Given the description of an element on the screen output the (x, y) to click on. 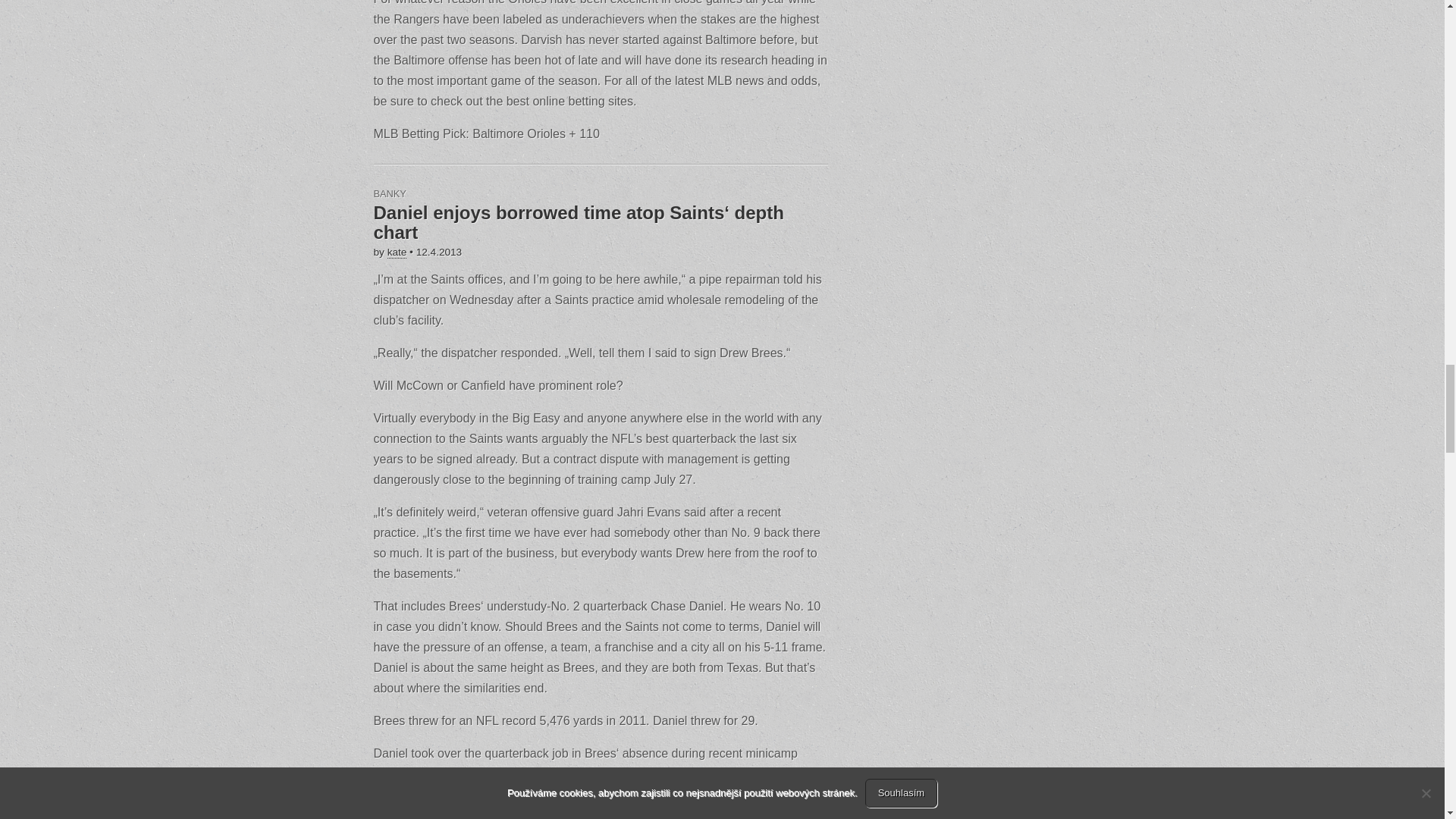
kate (397, 252)
Posts by kate (397, 252)
BANKY (389, 193)
12.4.2013 (438, 251)
